Given the description of an element on the screen output the (x, y) to click on. 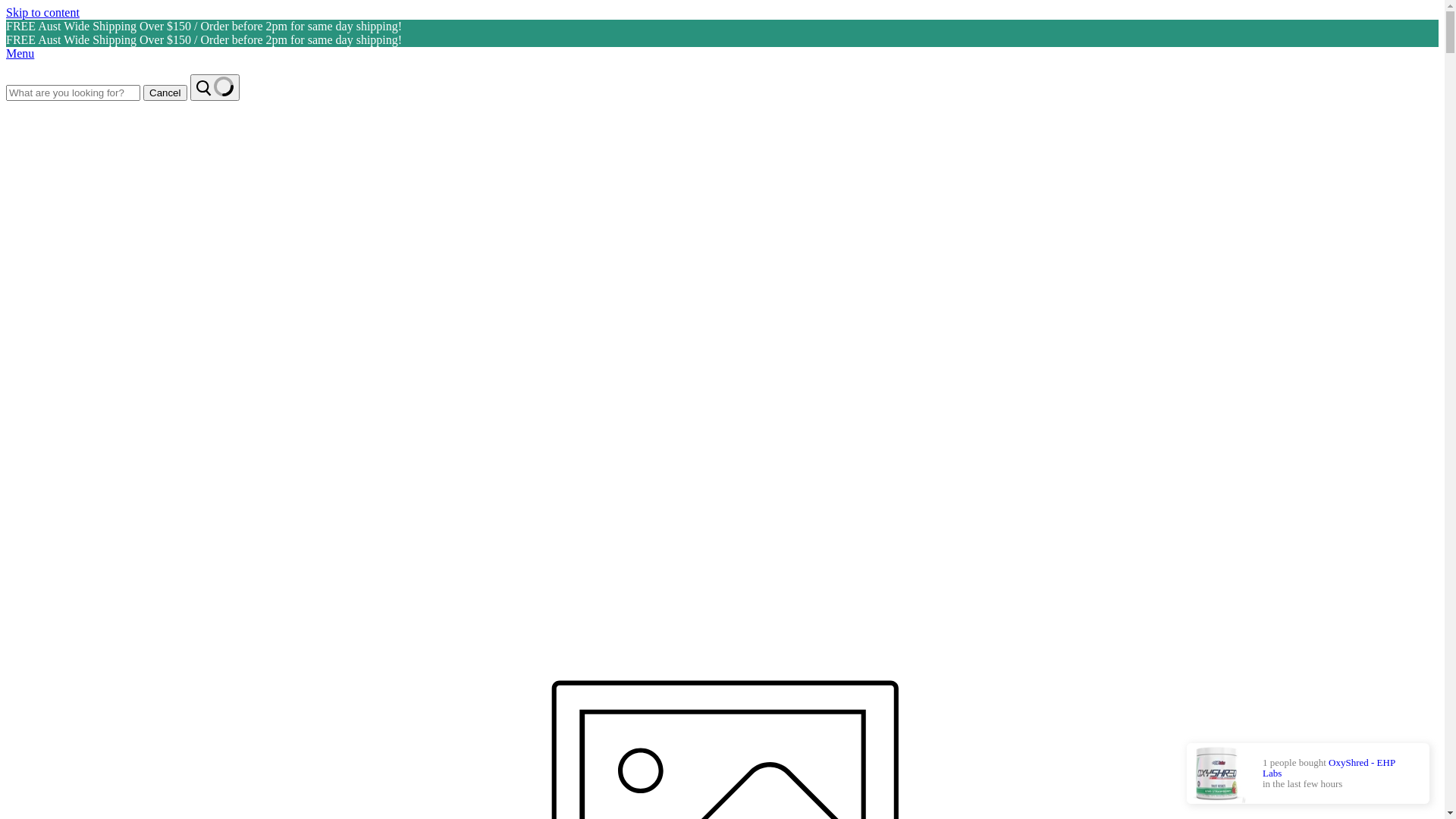
Cancel Element type: text (165, 92)
Menu Element type: text (722, 53)
Skip to content Element type: text (42, 12)
